Given the description of an element on the screen output the (x, y) to click on. 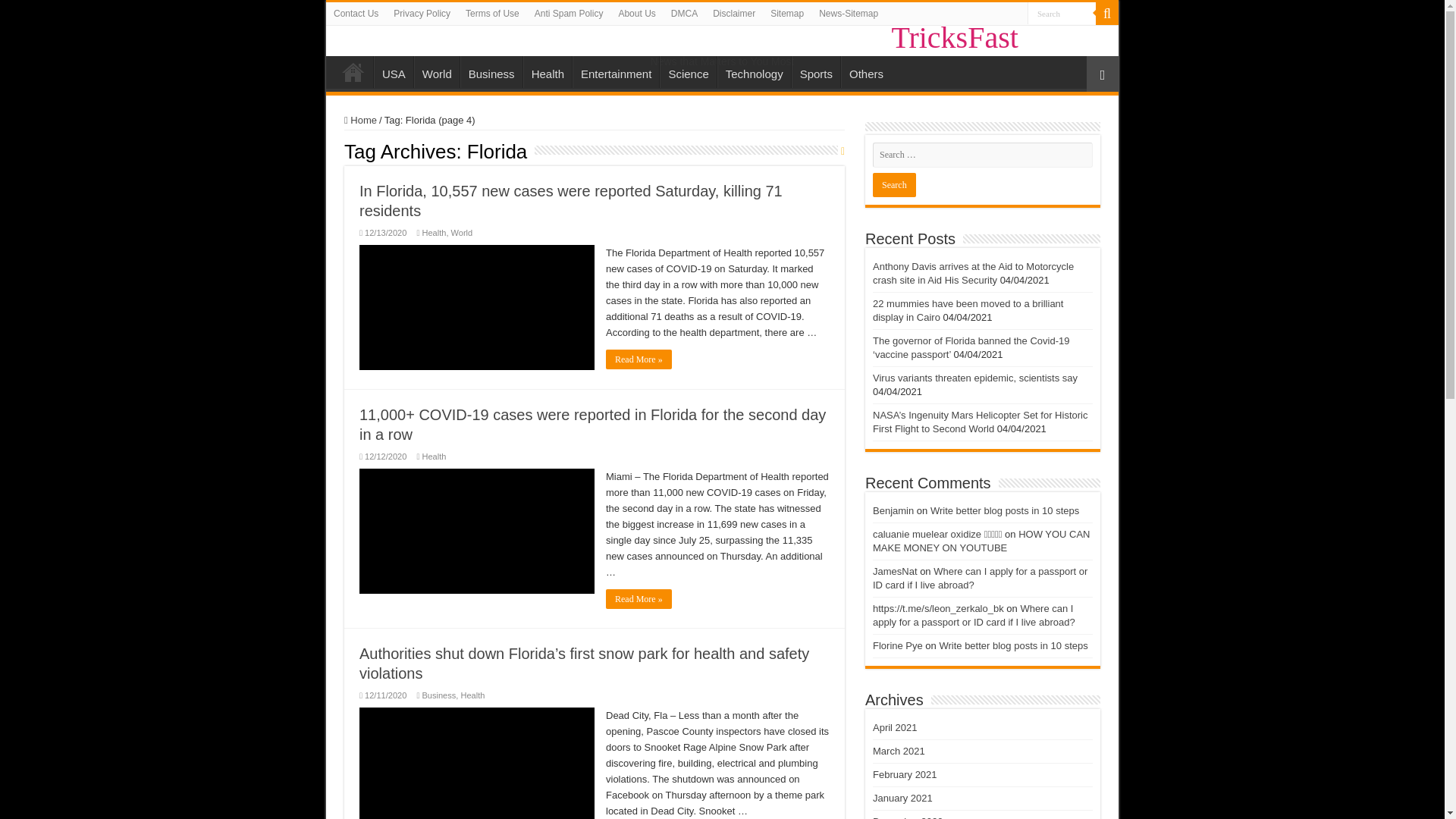
Terms of Use (492, 13)
Search (893, 184)
Contact Us (355, 13)
Disclaimer (733, 13)
News-Sitemap (847, 13)
Search (1061, 13)
World (462, 232)
About Us (636, 13)
Search (893, 184)
Technology (753, 71)
Search (1107, 13)
DMCA (683, 13)
Health (433, 232)
Health (547, 71)
